Given the description of an element on the screen output the (x, y) to click on. 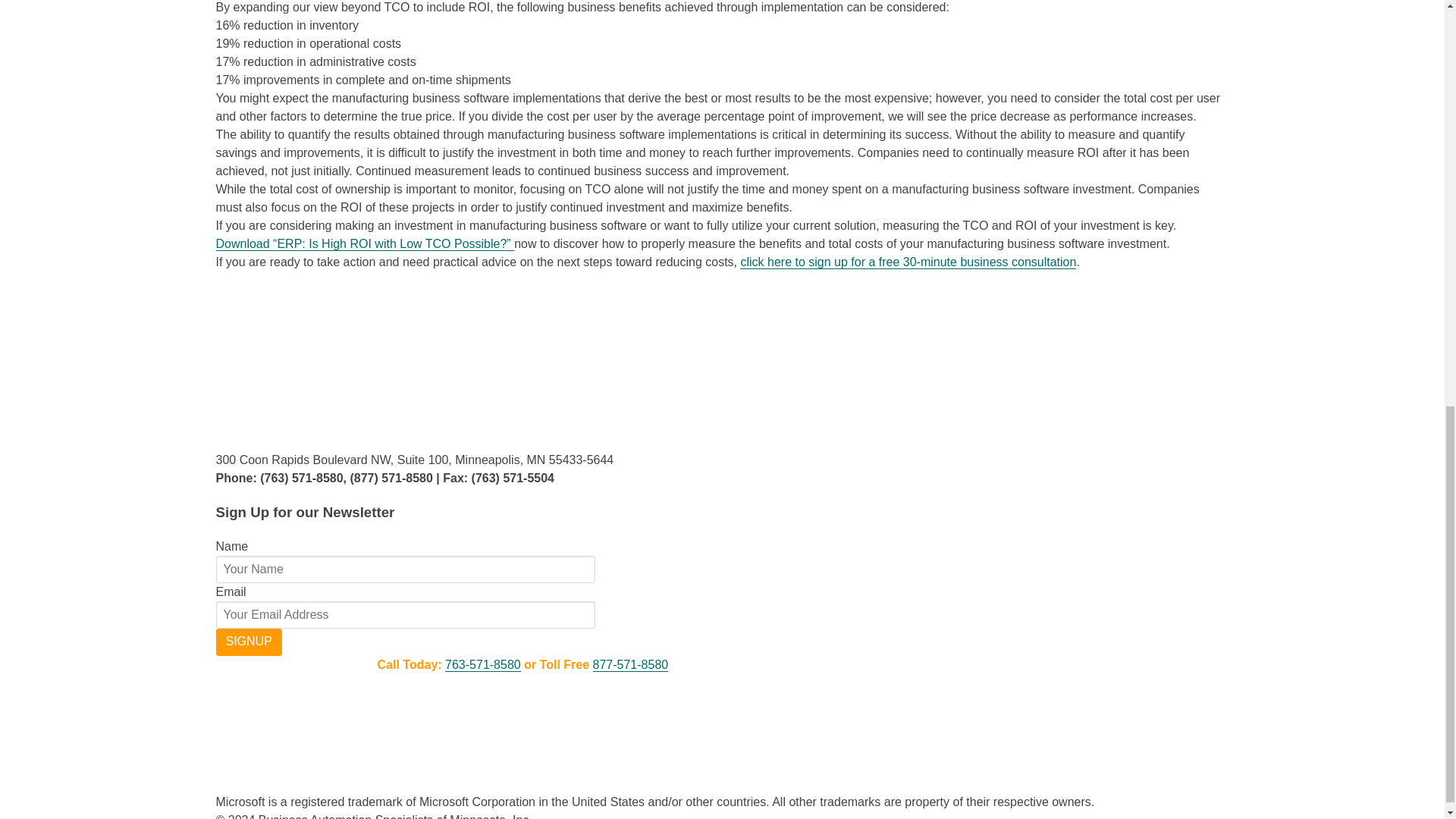
Signup (248, 642)
